Given the description of an element on the screen output the (x, y) to click on. 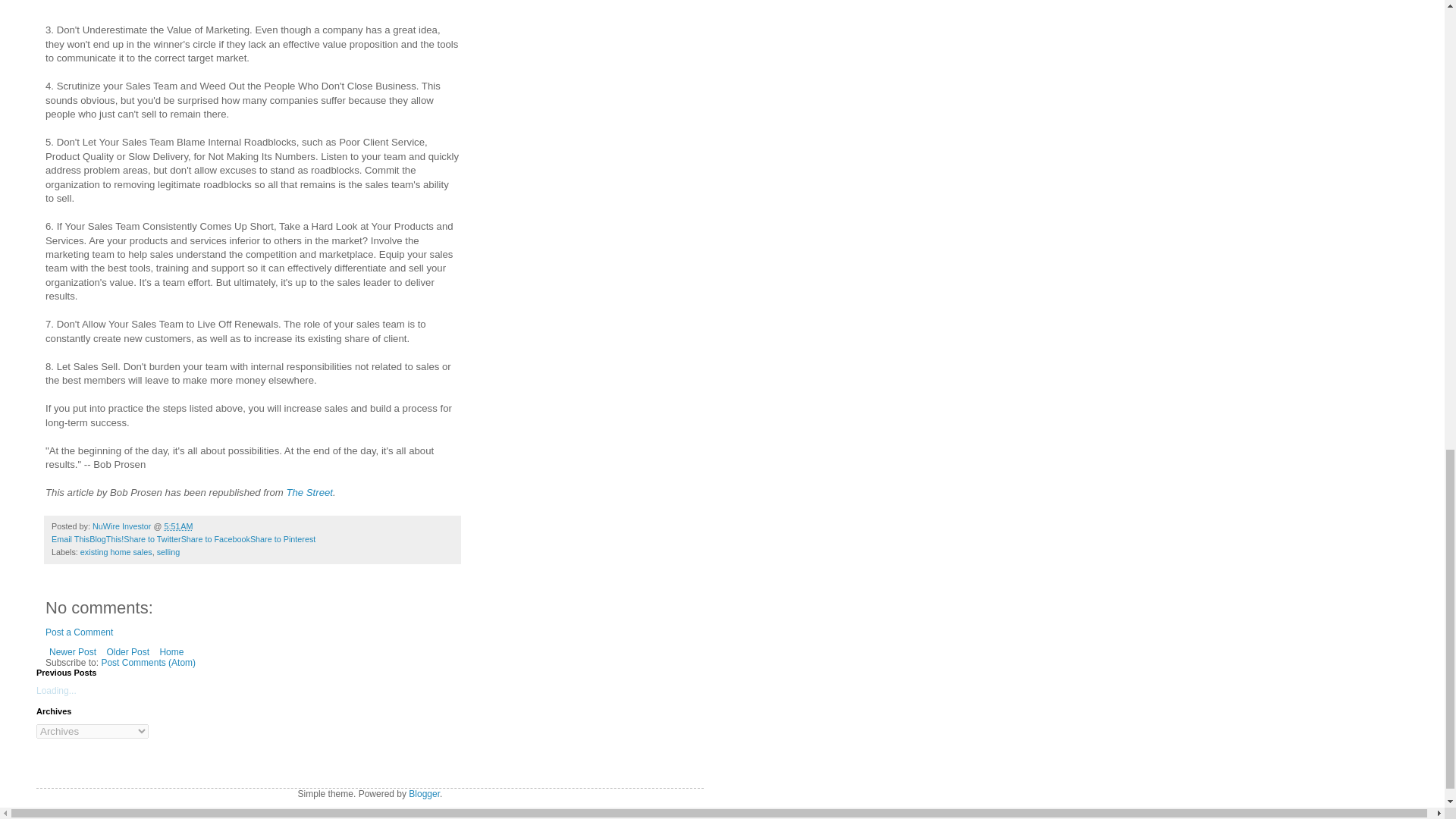
BlogThis! (105, 538)
Email This (69, 538)
The Street (309, 491)
BlogThis! (105, 538)
Loading... (56, 690)
Share to Facebook (215, 538)
Email Post (202, 525)
Older Post (126, 651)
Share to Twitter (151, 538)
Email This (69, 538)
Older Post (126, 651)
Share to Twitter (151, 538)
existing home sales (116, 551)
Newer Post (72, 651)
